Given the description of an element on the screen output the (x, y) to click on. 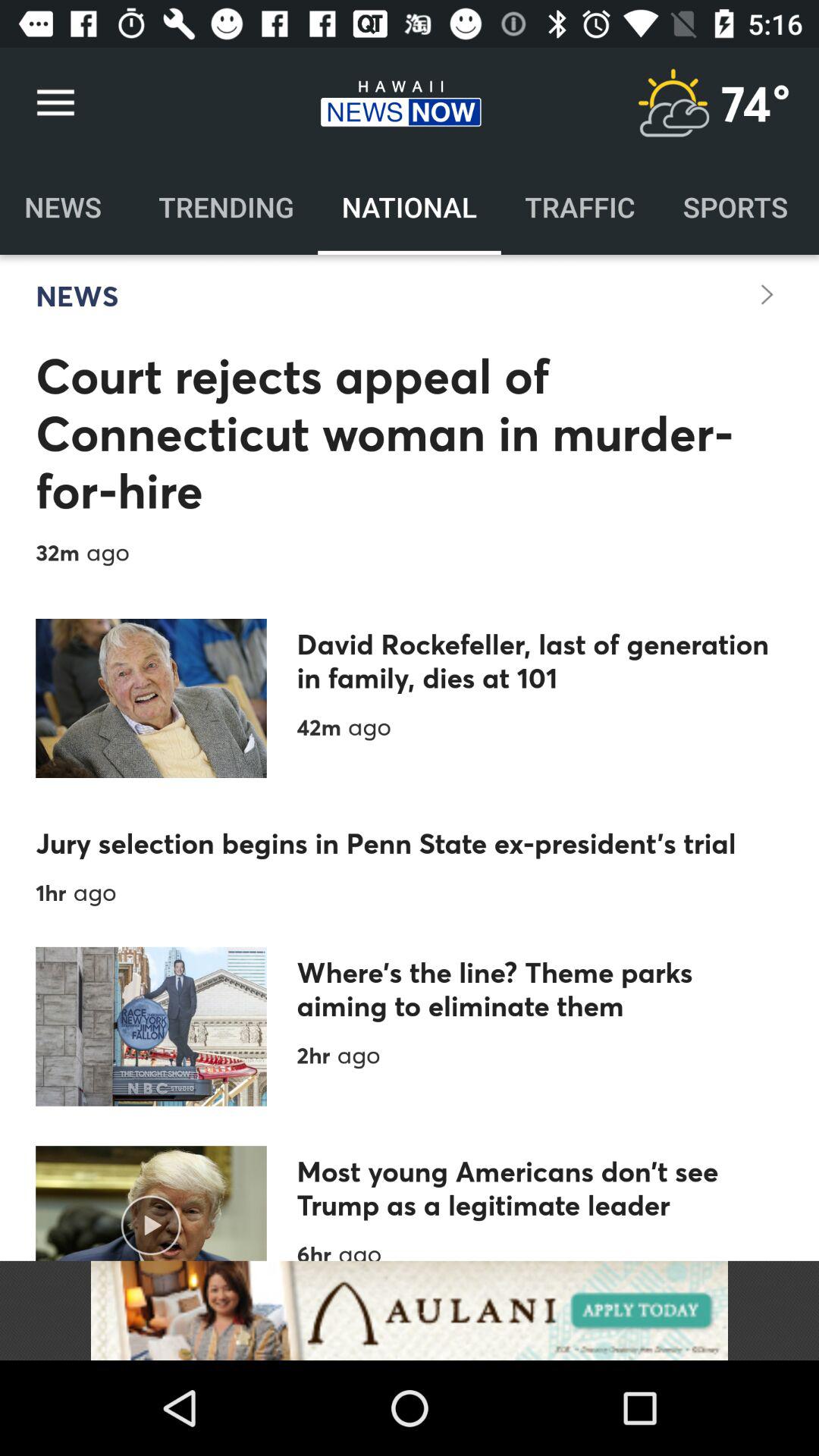
menu (673, 103)
